Given the description of an element on the screen output the (x, y) to click on. 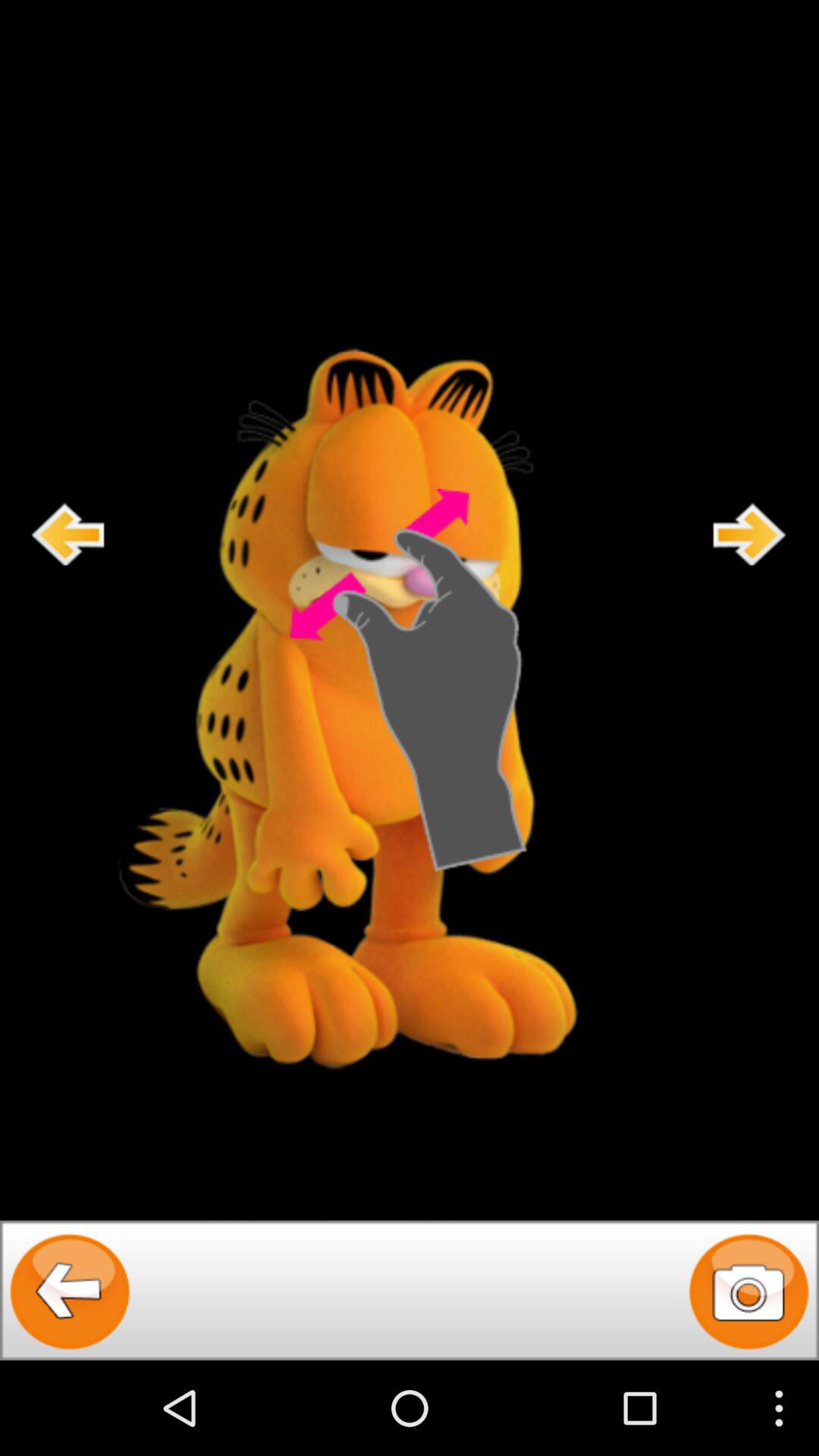
go to camera application (748, 1290)
